Given the description of an element on the screen output the (x, y) to click on. 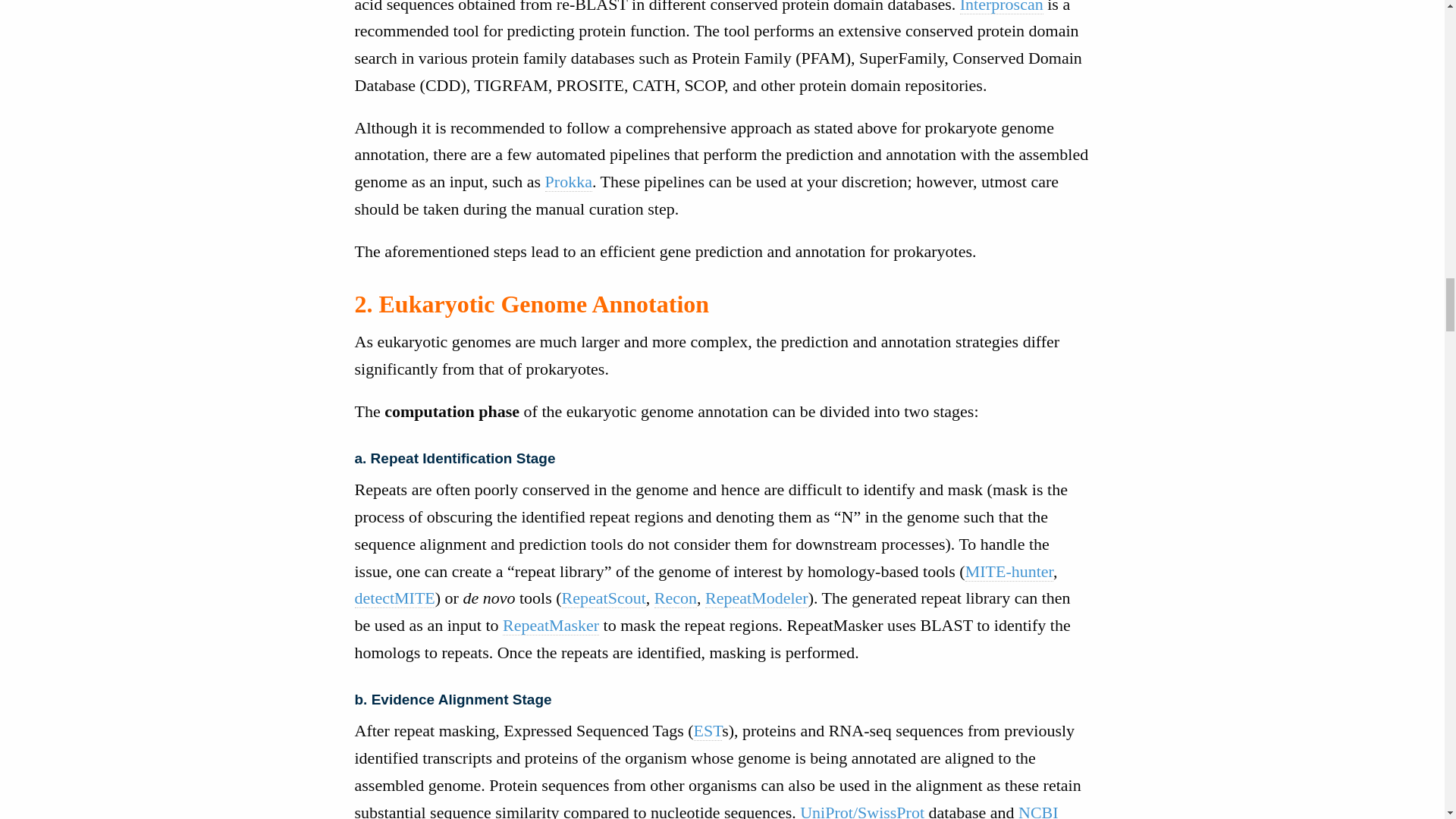
Prokka (568, 181)
Recon (675, 598)
RepeatModeler (756, 598)
Interproscan (1001, 7)
detectMITE (395, 598)
RepeatScout (604, 598)
RepeatMasker (550, 625)
EST (708, 731)
MITE-hunter (1008, 571)
